Given the description of an element on the screen output the (x, y) to click on. 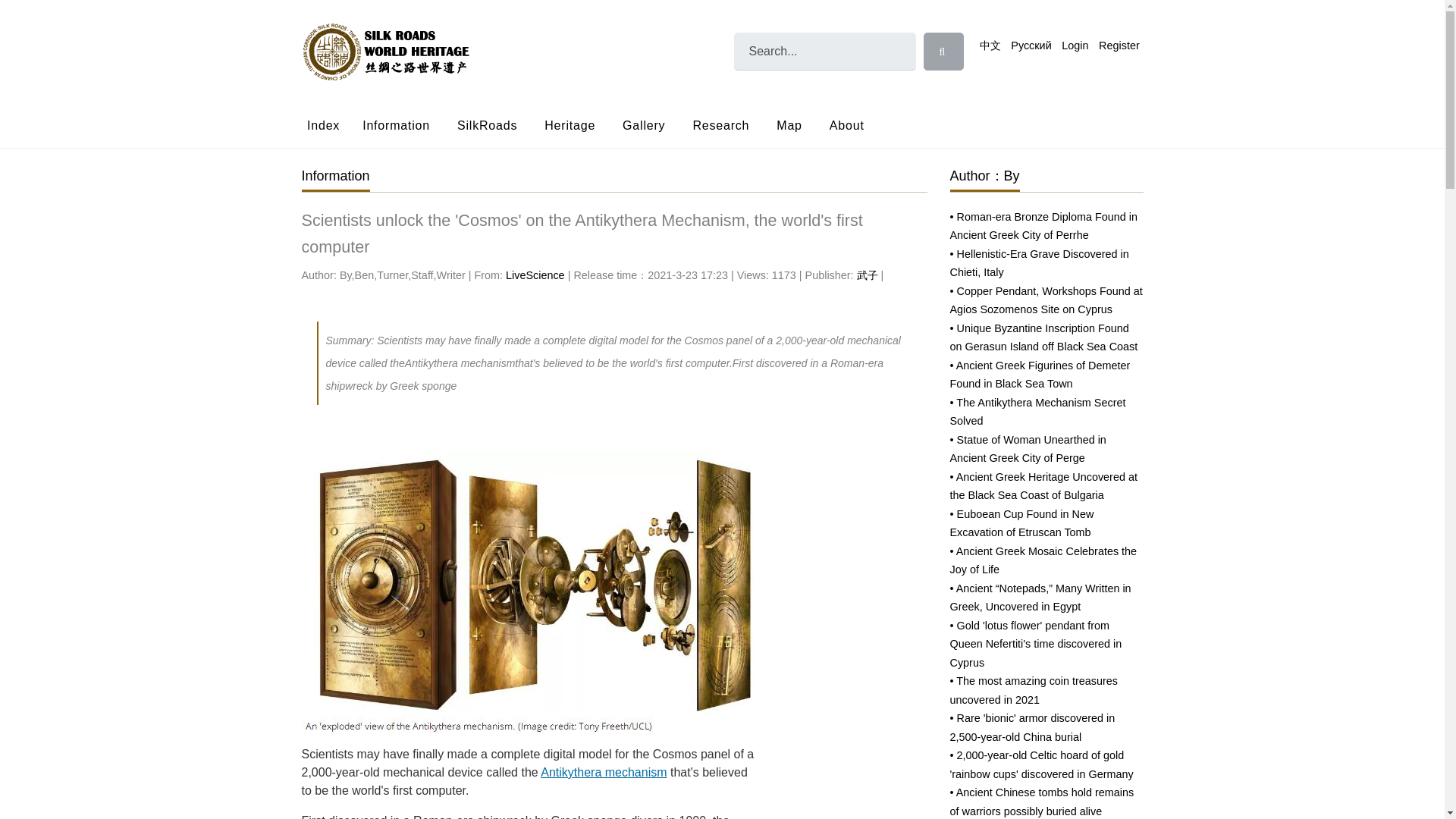
Heritage (569, 124)
LiveScience (534, 275)
About (846, 124)
true (943, 51)
SilkRoads (487, 124)
Search... (824, 51)
Information (396, 124)
Research (720, 124)
Index (327, 124)
Map (788, 124)
Login (1075, 45)
Gallery (643, 124)
Register (1118, 45)
Antikythera mechanism (603, 771)
